Given the description of an element on the screen output the (x, y) to click on. 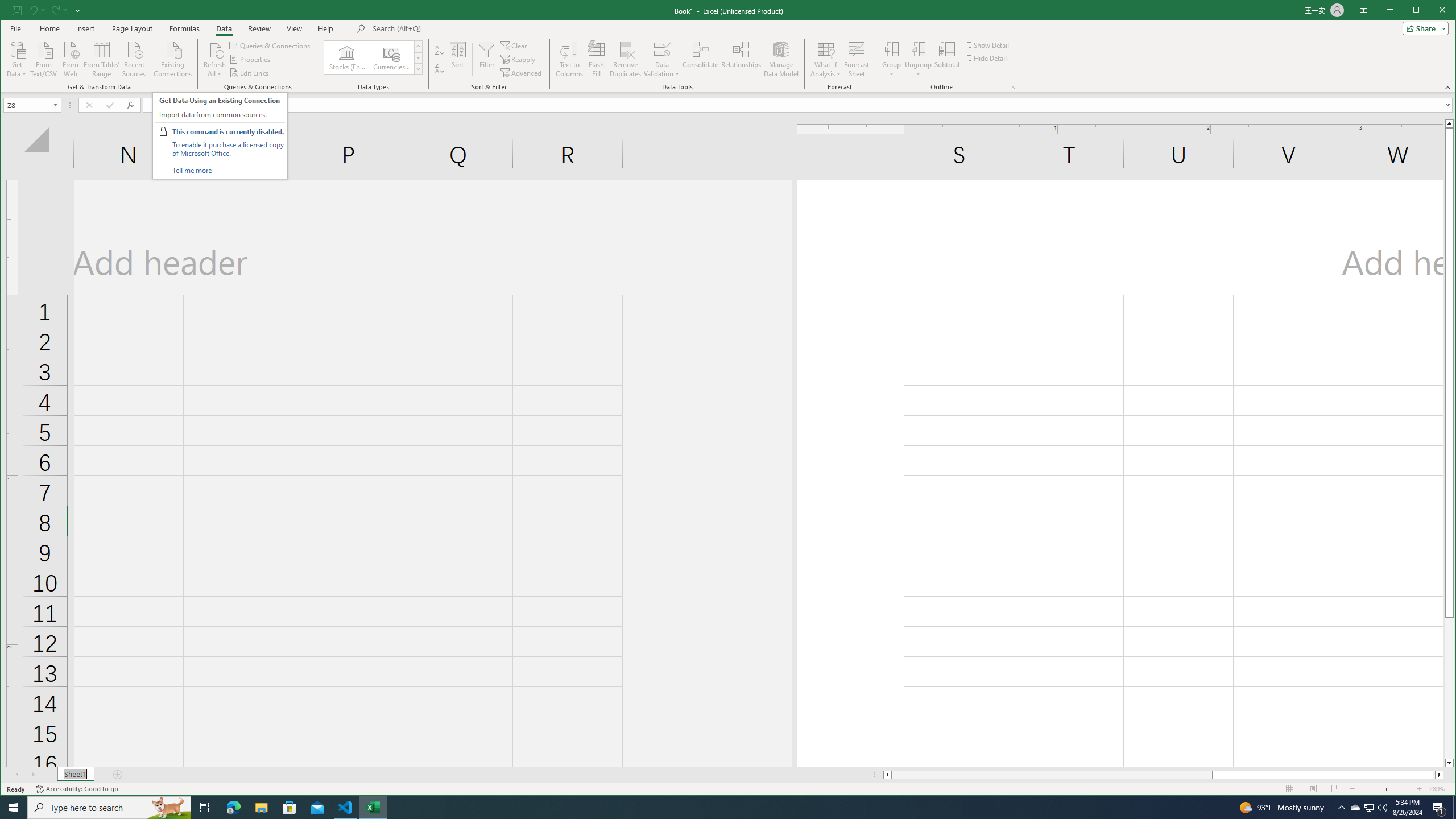
Microsoft Edge (1368, 807)
Search highlights icon opens search home window (233, 807)
